Given the description of an element on the screen output the (x, y) to click on. 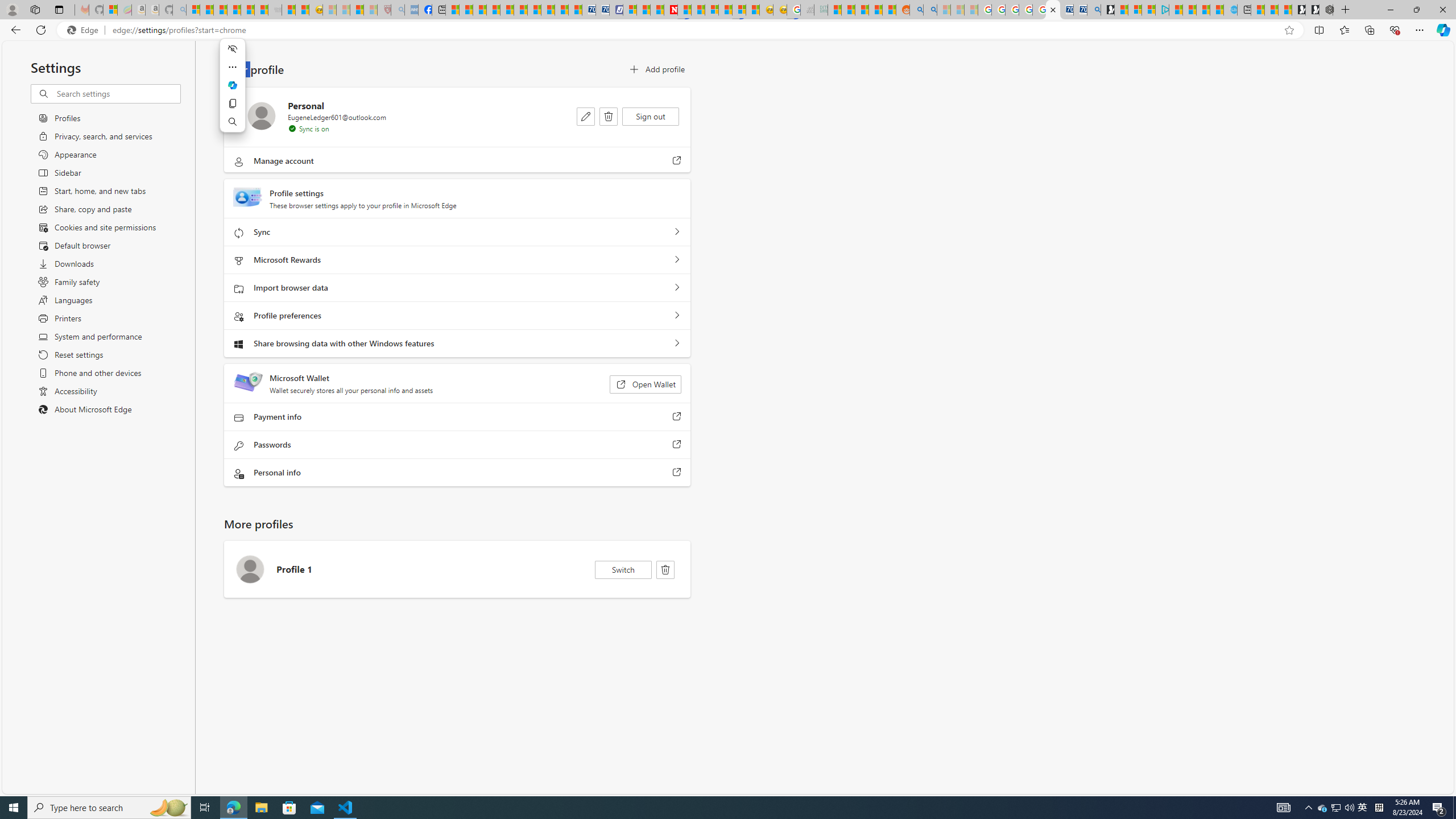
Microsoft account | Privacy (1148, 9)
Robert H. Shmerling, MD - Harvard Health - Sleeping (384, 9)
Microsoft Start - Sleeping (943, 9)
Add profile (655, 69)
Switch (623, 570)
Stocks - MSN (260, 9)
Passwords (676, 444)
Delete (665, 570)
NCL Adult Asthma Inhaler Choice Guideline - Sleeping (411, 9)
Microsoft Start Gaming (1107, 9)
